Given the description of an element on the screen output the (x, y) to click on. 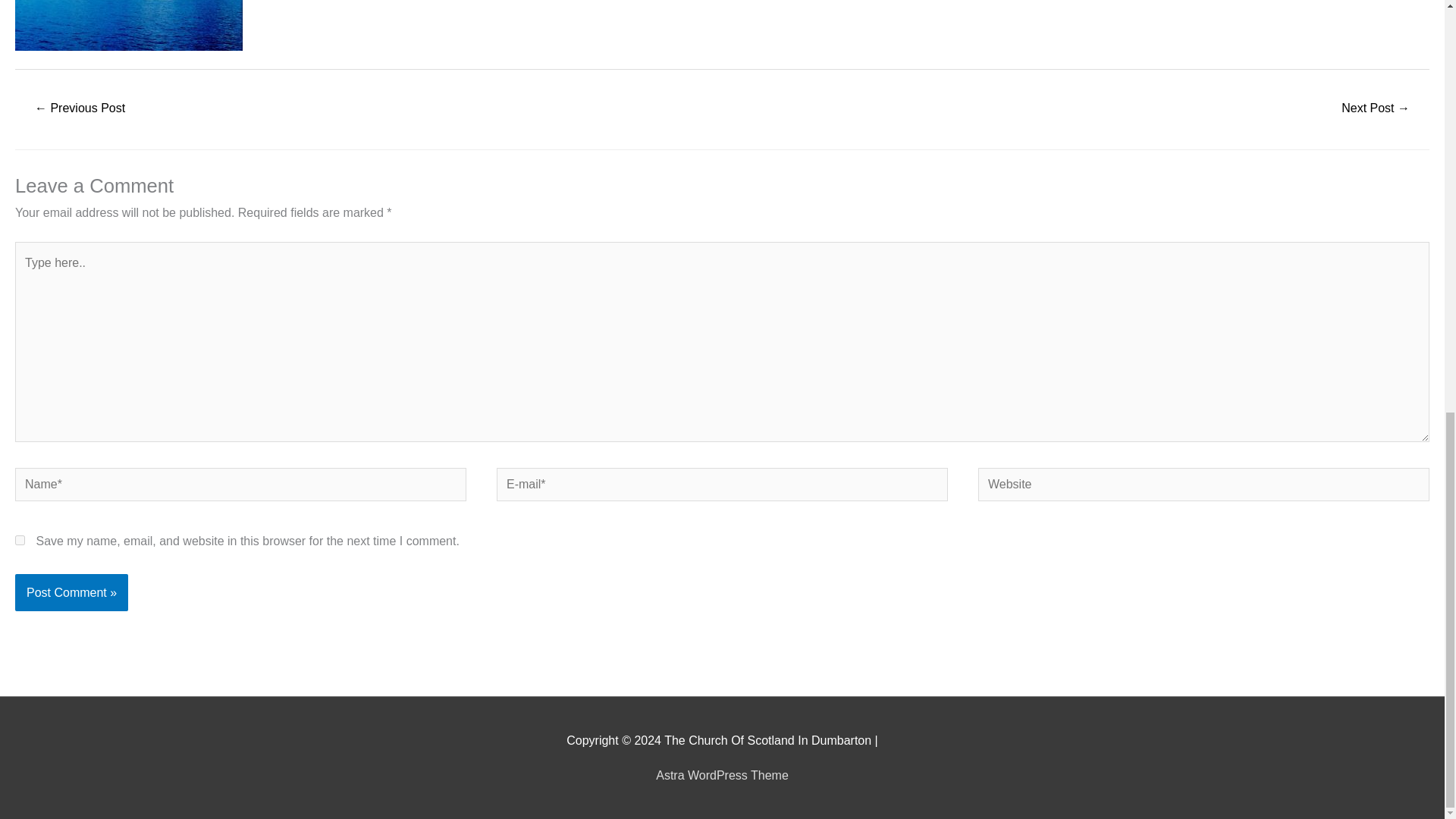
Astra WordPress Theme (722, 775)
yes (19, 540)
Thought for the day 20 May (1375, 109)
Thought for the day 18 May (79, 109)
